Given the description of an element on the screen output the (x, y) to click on. 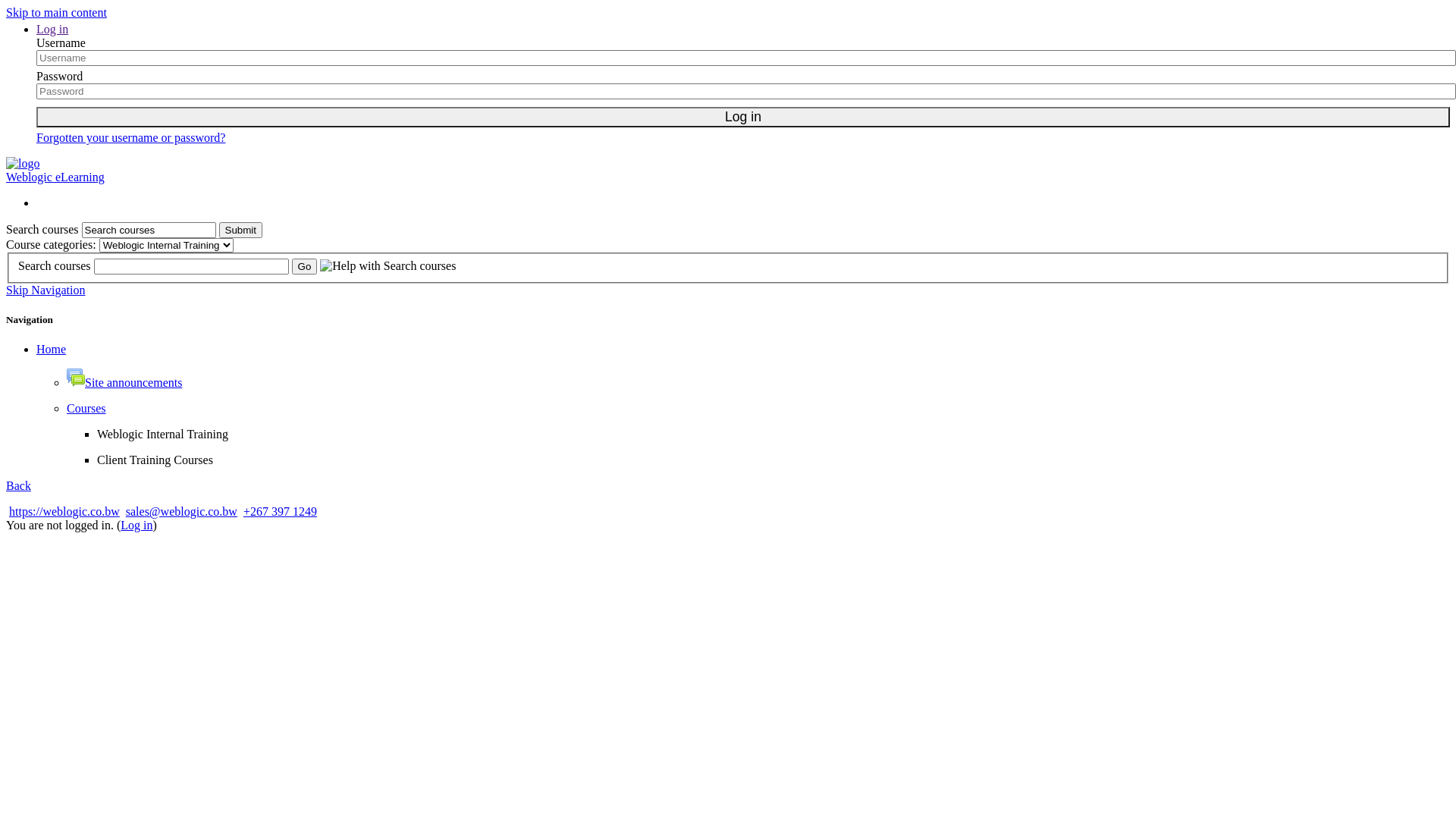
Skip to main content Element type: text (56, 12)
Help with Search courses Element type: hover (387, 266)
Site announcements Element type: text (124, 382)
https://weblogic.co.bw Element type: text (64, 511)
Log in Element type: text (52, 28)
Log in Element type: text (742, 116)
Submit Element type: text (240, 230)
Forgotten your username or password? Element type: text (130, 137)
Home Element type: hover (727, 163)
+267 397 1249 Element type: text (279, 511)
Forum Element type: hover (75, 377)
Go Element type: text (304, 266)
Weblogic eLearning Element type: text (55, 176)
Skip Navigation Element type: text (45, 289)
Courses Element type: text (86, 407)
sales@weblogic.co.bw Element type: text (181, 511)
Log in Element type: text (136, 524)
Home Element type: text (50, 348)
Back Element type: text (18, 485)
